Given the description of an element on the screen output the (x, y) to click on. 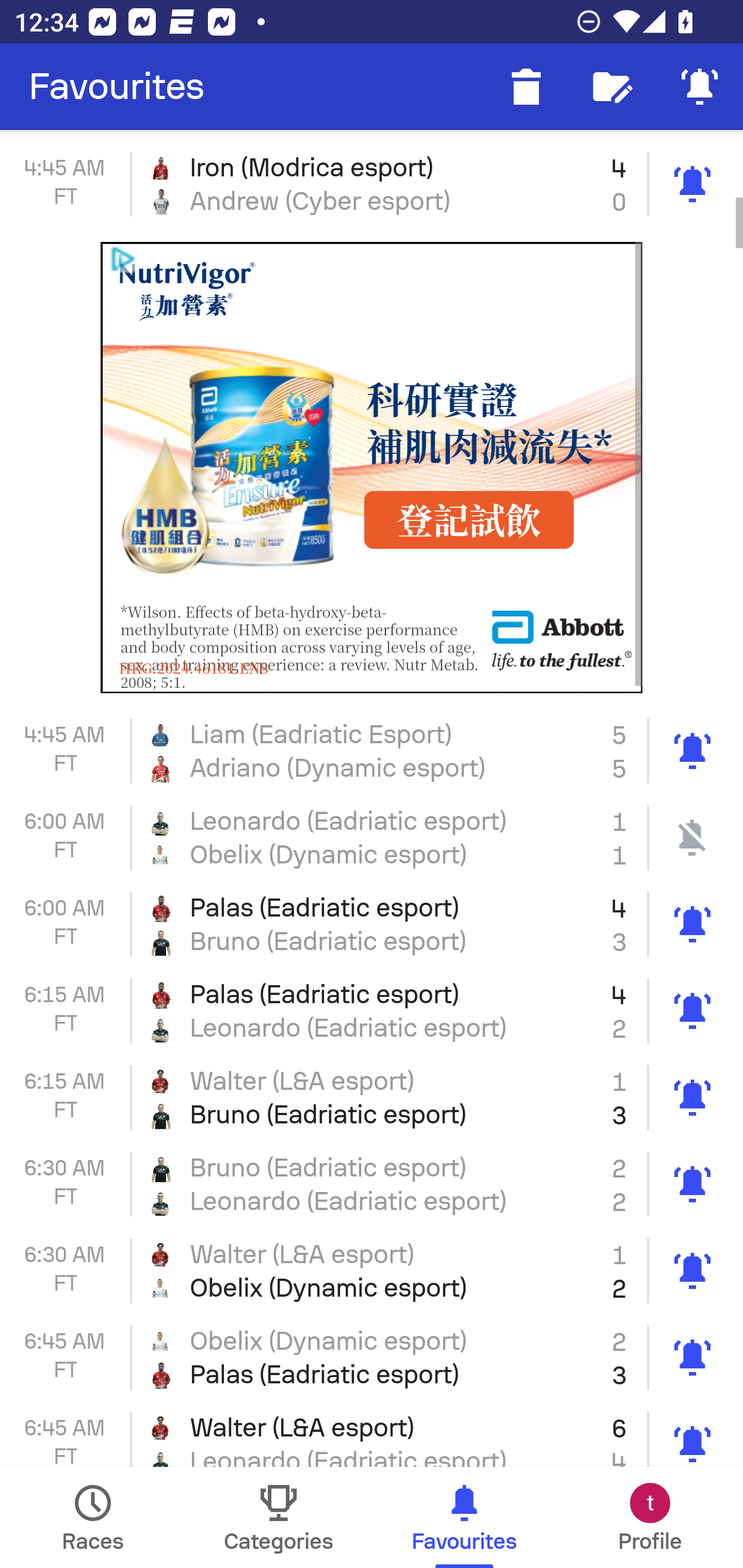
Favourites (116, 86)
Delete finished (525, 86)
Follow editor (612, 86)
Mute Notifications (699, 86)
登記試飲 (468, 519)
Races (92, 1517)
Categories (278, 1517)
Profile (650, 1517)
